Given the description of an element on the screen output the (x, y) to click on. 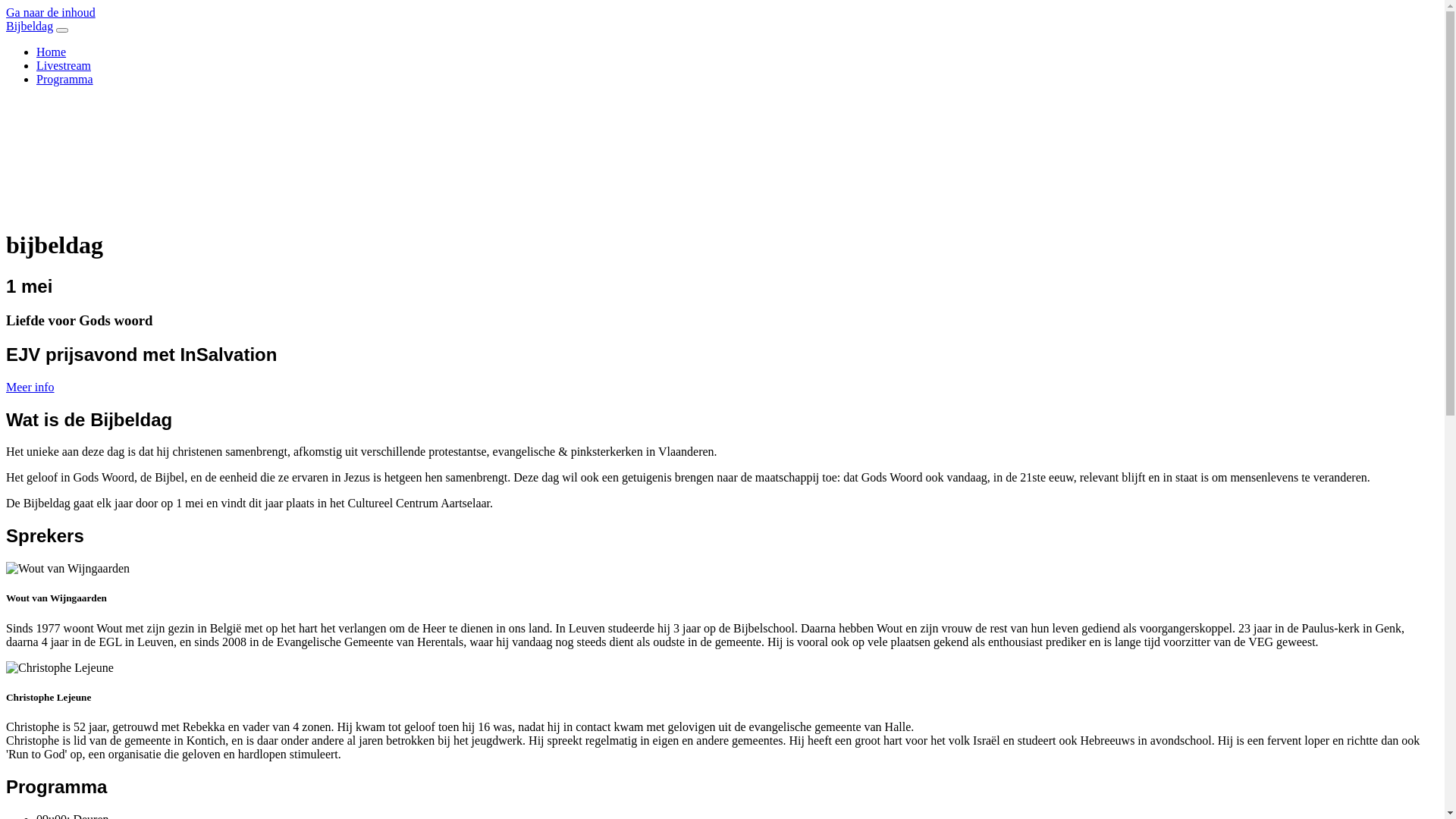
Home Element type: text (50, 51)
Livestream Element type: text (63, 65)
Programma Element type: text (64, 78)
Bijbeldag Element type: text (29, 25)
Meer info Element type: text (30, 386)
Ga naar de inhoud Element type: text (50, 12)
